Given the description of an element on the screen output the (x, y) to click on. 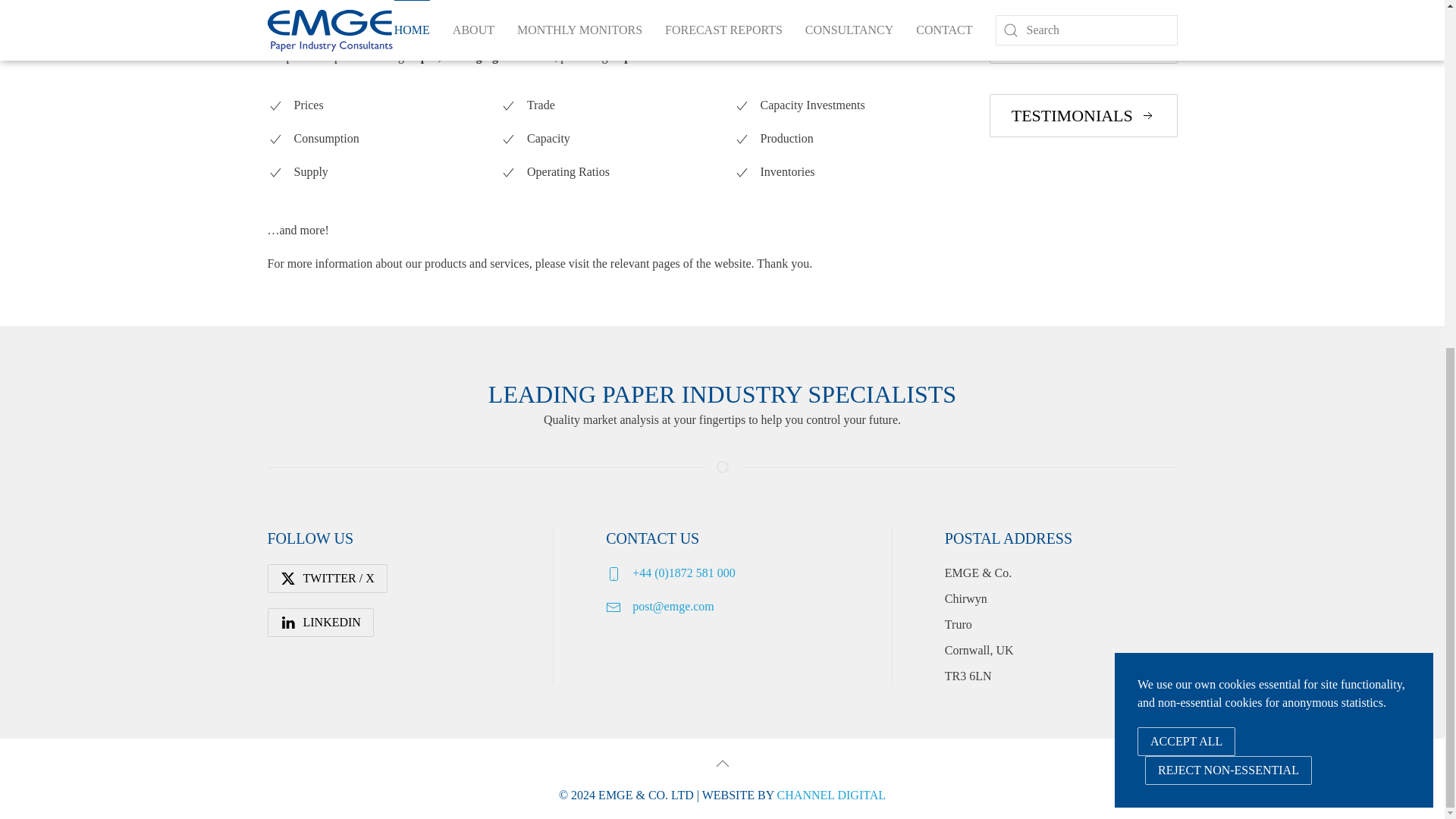
Open linkedin.com in a new tab (319, 622)
Open channeldigital.co.uk in a new tab (831, 794)
Back to top (721, 763)
Open x.com in a new tab (326, 578)
